Given the description of an element on the screen output the (x, y) to click on. 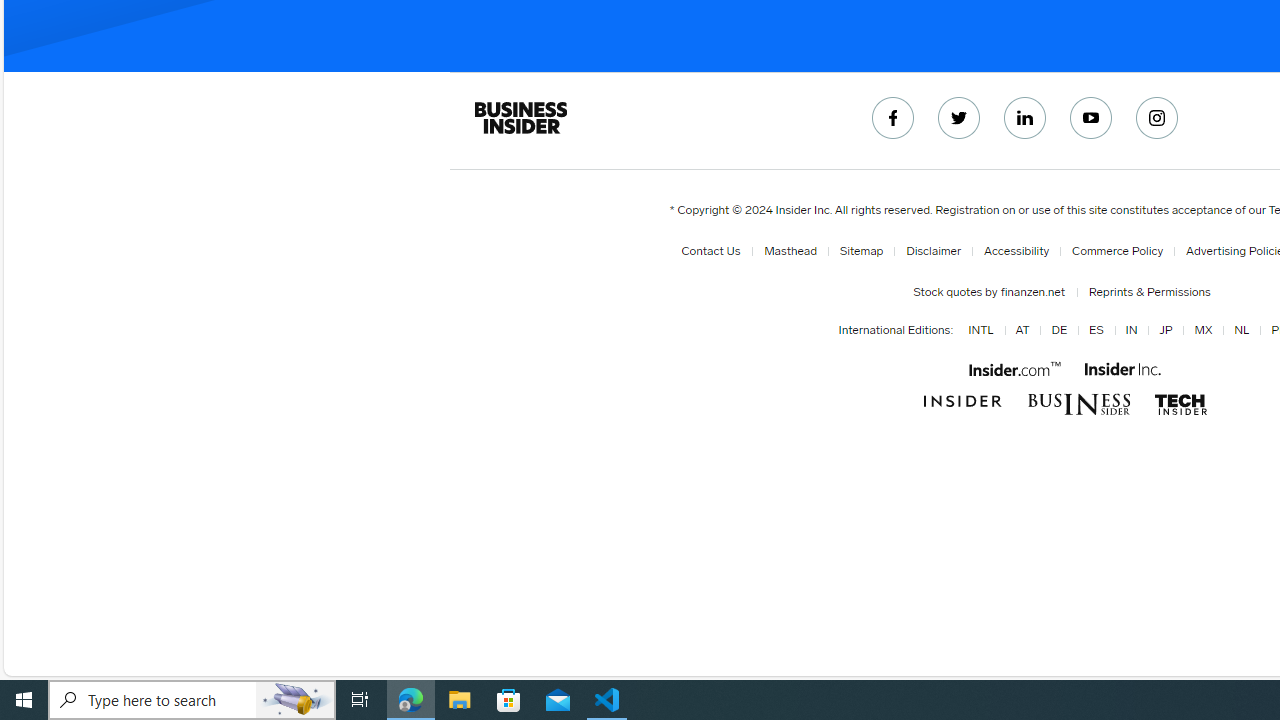
Click to visit us on Twitter (959, 117)
Click to visit Business Insider (962, 401)
Insider.com TM Logo (1014, 368)
INTL (980, 331)
JP (1165, 331)
NL (1238, 331)
Business Insider DE Logo (1078, 404)
Click to visit our YouTube channel (1091, 117)
finanzen.net (1030, 291)
Contact Us (713, 251)
Reprints and Permissions (1149, 291)
DE (1058, 331)
Masthead (790, 251)
Tech Insider Logo (1180, 404)
AT (1022, 331)
